Given the description of an element on the screen output the (x, y) to click on. 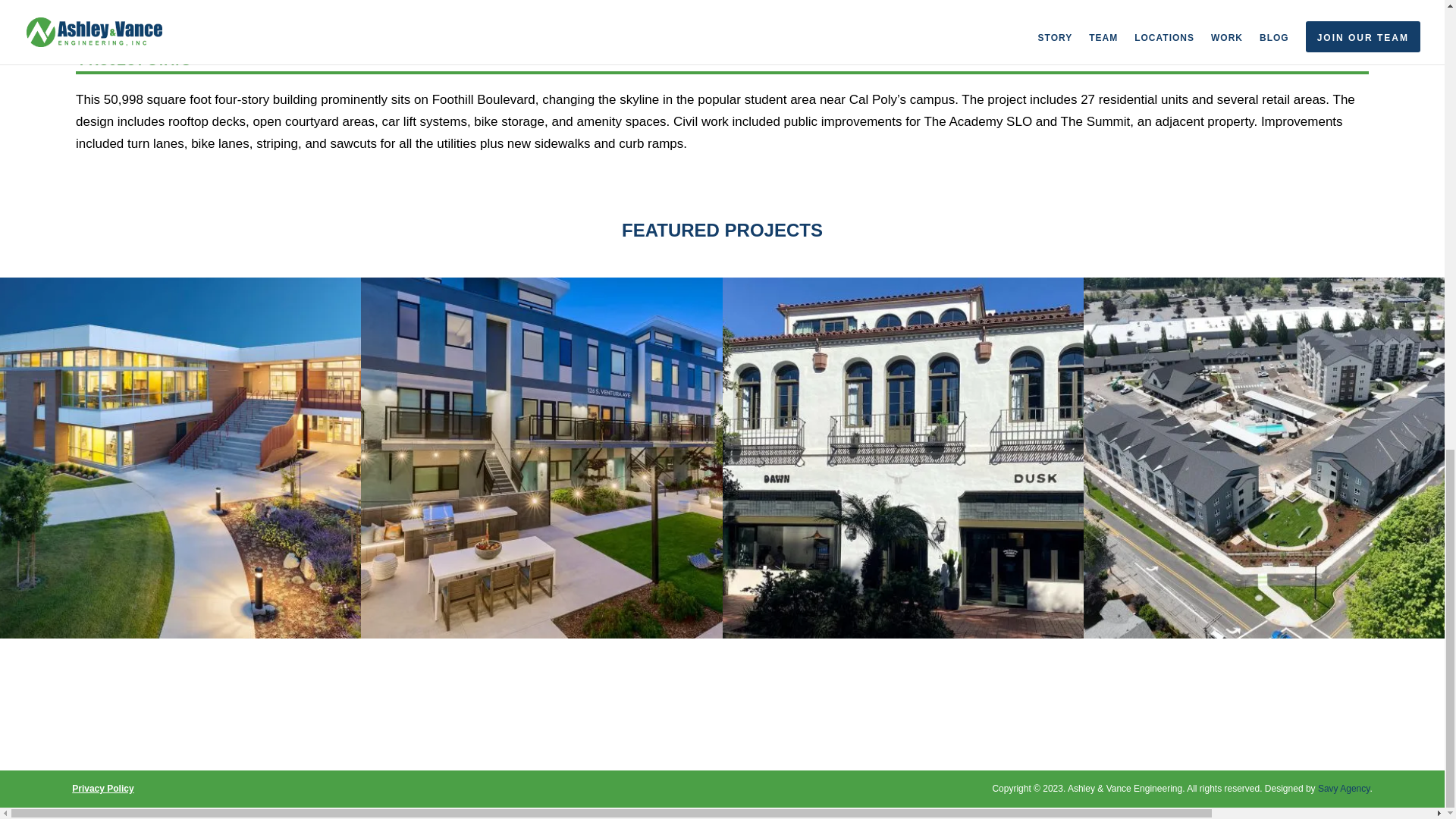
Privacy Policy (102, 787)
Savy Agency (1343, 787)
